Given the description of an element on the screen output the (x, y) to click on. 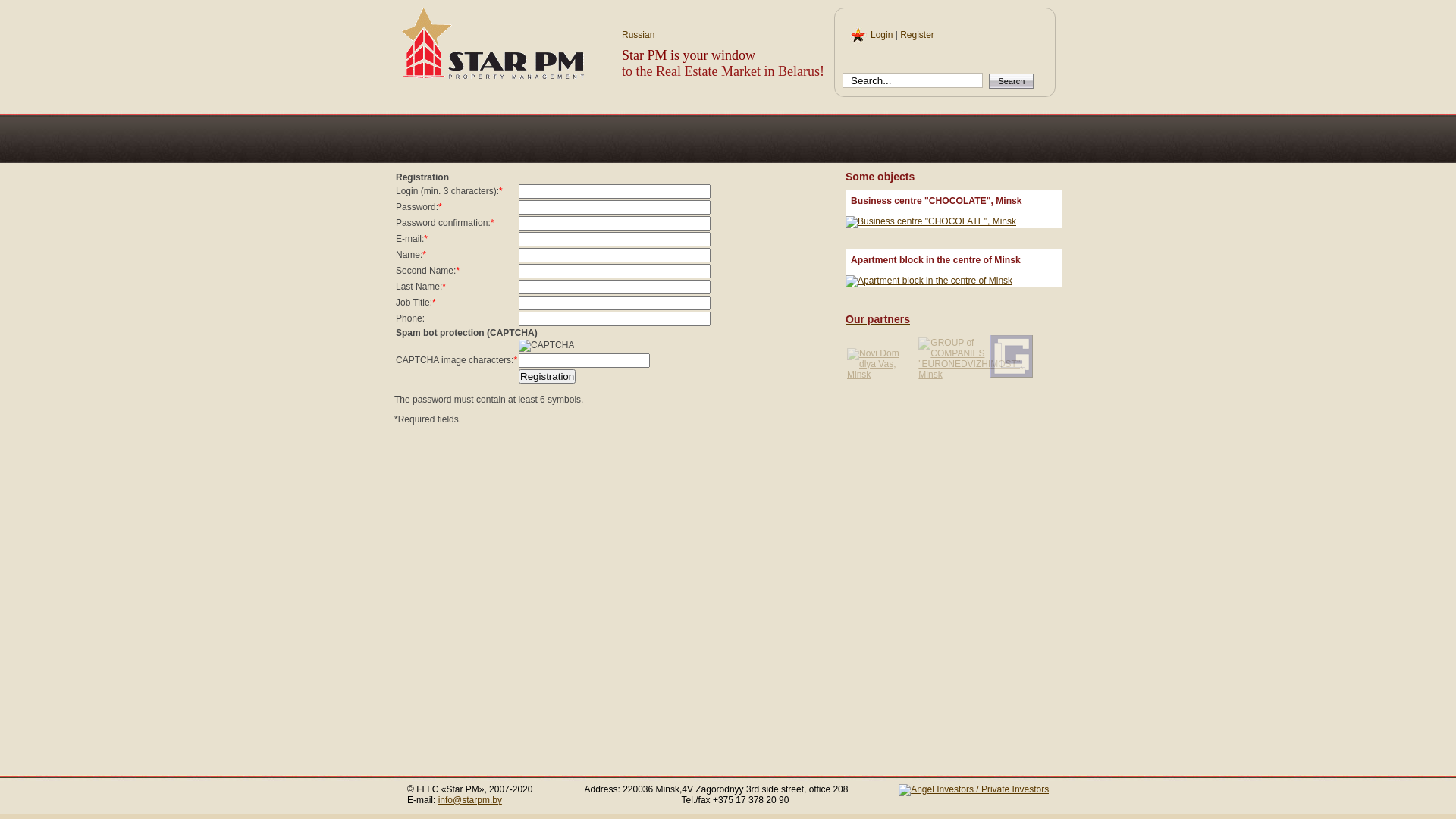
L. Gnaftis & Co. Ltd, Cyprus Element type: hover (1011, 356)
Russian Element type: text (637, 34)
GROUP of COMPANIES "EURONEDVIZHIMOST", Minsk Element type: hover (970, 358)
Our partners Element type: text (953, 319)
Registration Element type: text (546, 375)
Register Element type: text (917, 34)
info@starpm.by Element type: text (470, 799)
Novi Dom dlya Vas, Minsk Element type: hover (881, 363)
Search Element type: text (1010, 79)
Apartment block in the centre of Minsk Element type: hover (928, 281)
Login Element type: text (881, 34)
Apartment block in the centre of Minsk Element type: text (935, 259)
